Given the description of an element on the screen output the (x, y) to click on. 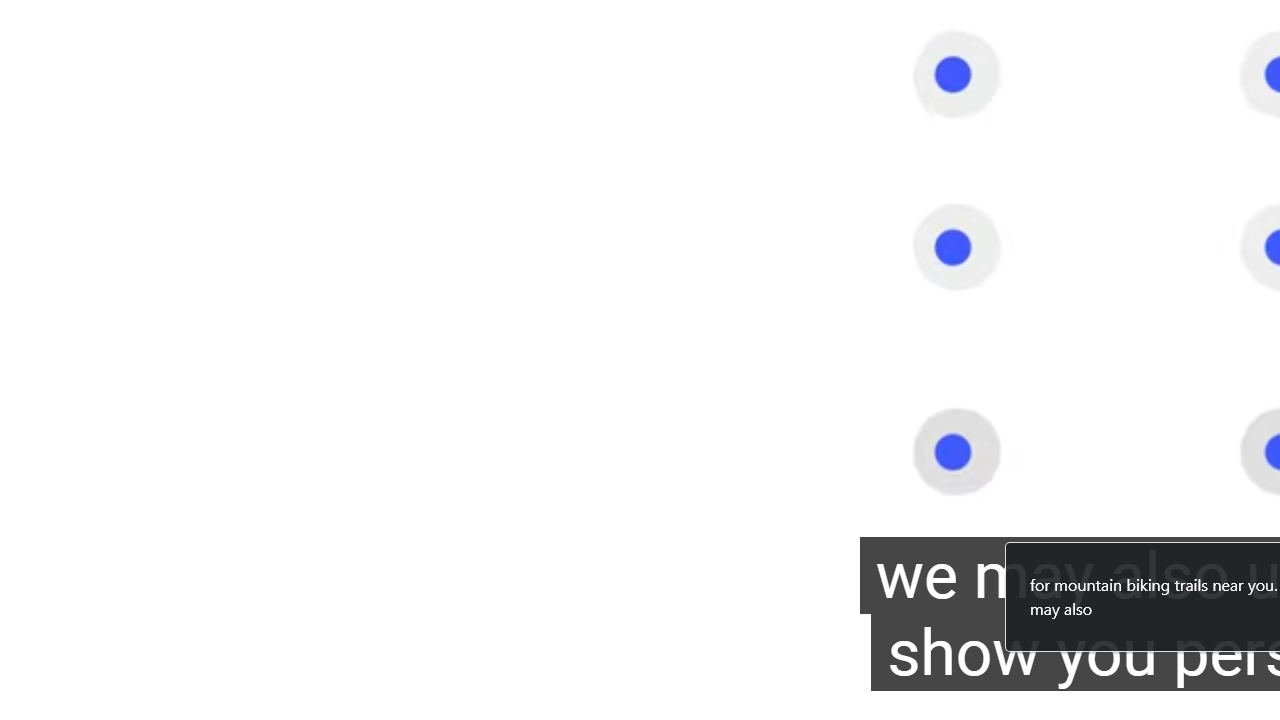
Mute (m) (173, 693)
Next (SHIFT+n) (120, 693)
Pause (k) (58, 693)
